Given the description of an element on the screen output the (x, y) to click on. 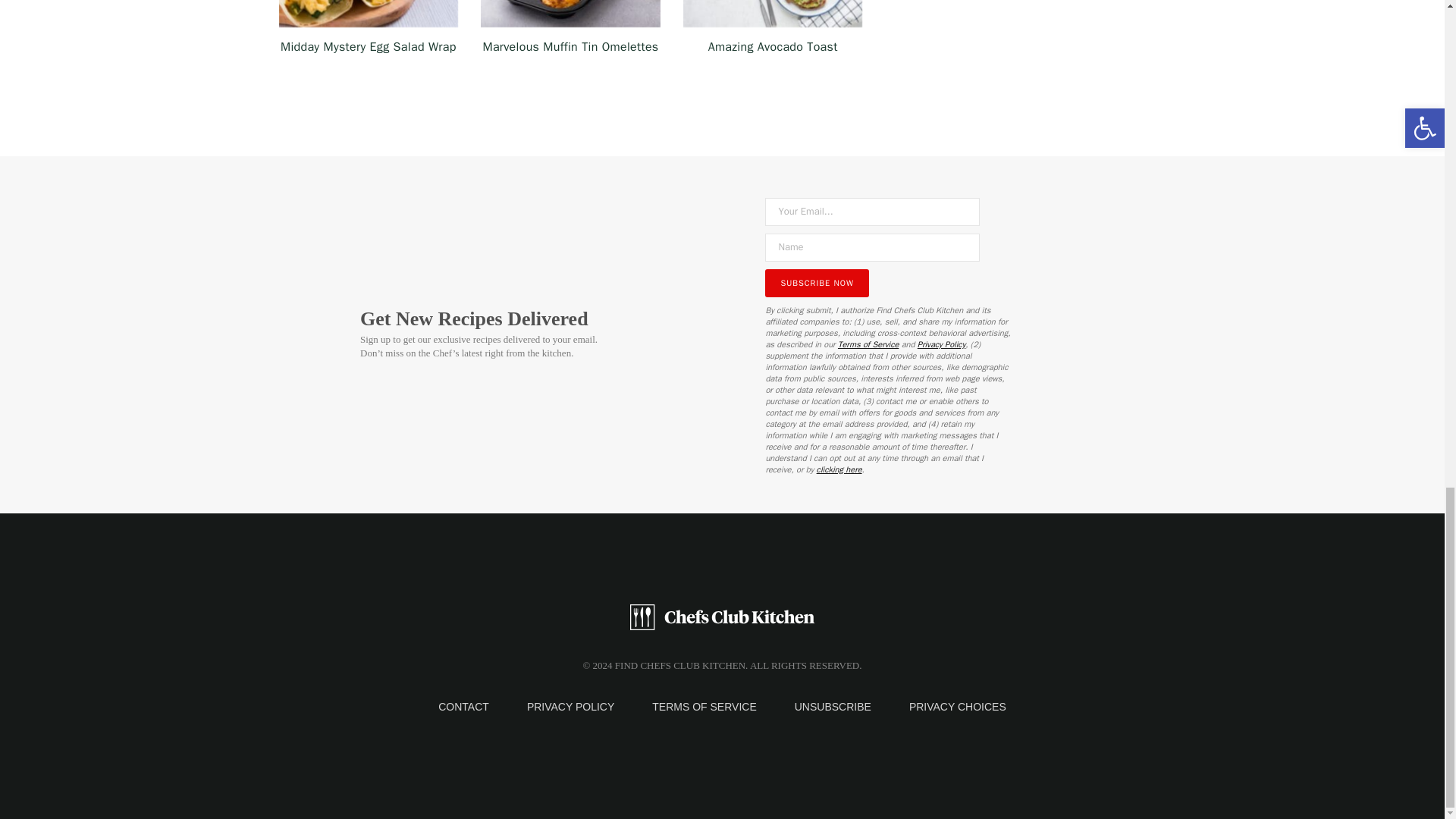
SUBSCRIBE NOW (817, 283)
